Given the description of an element on the screen output the (x, y) to click on. 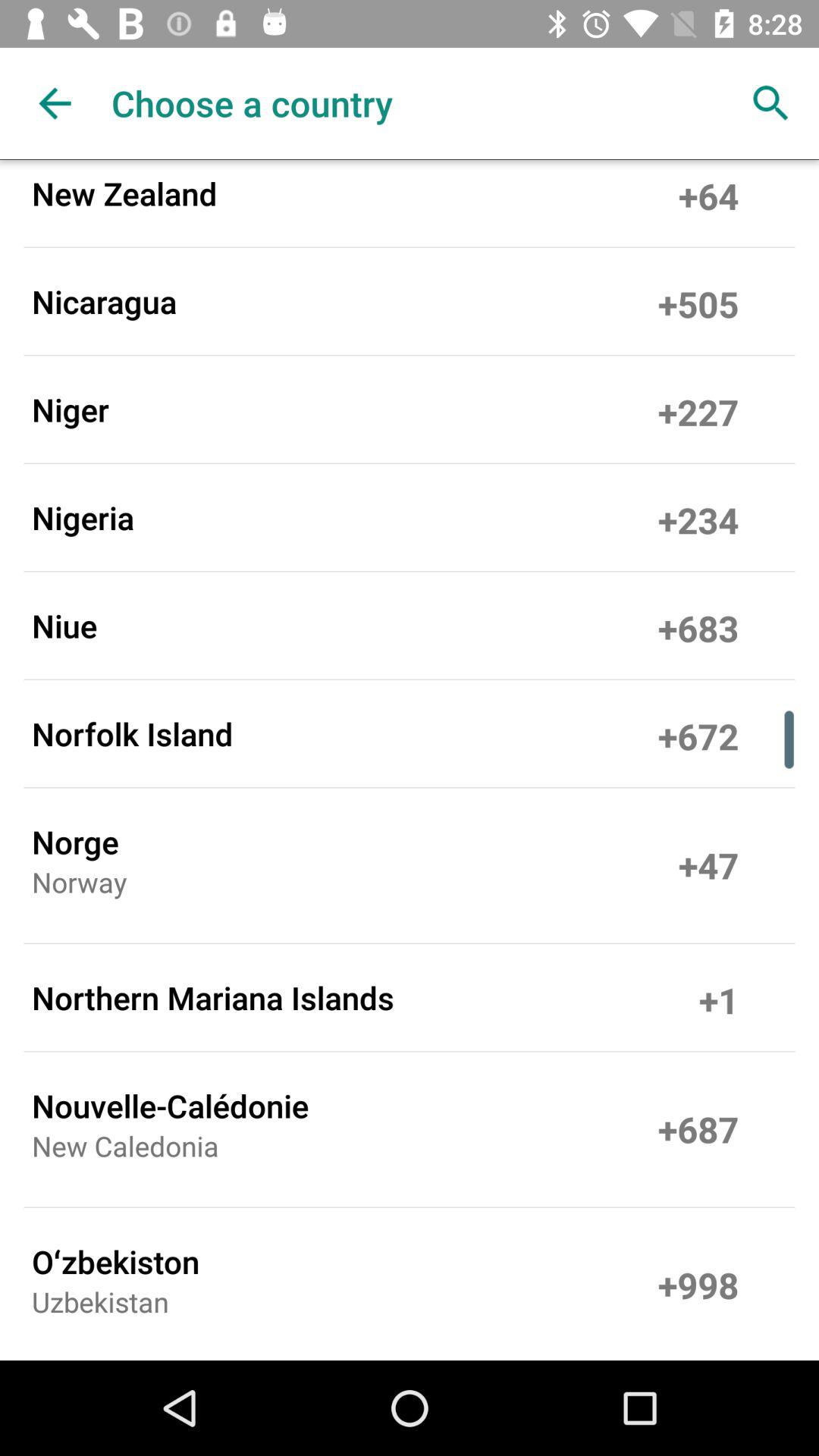
open the item to the left of the +683 item (64, 625)
